Given the description of an element on the screen output the (x, y) to click on. 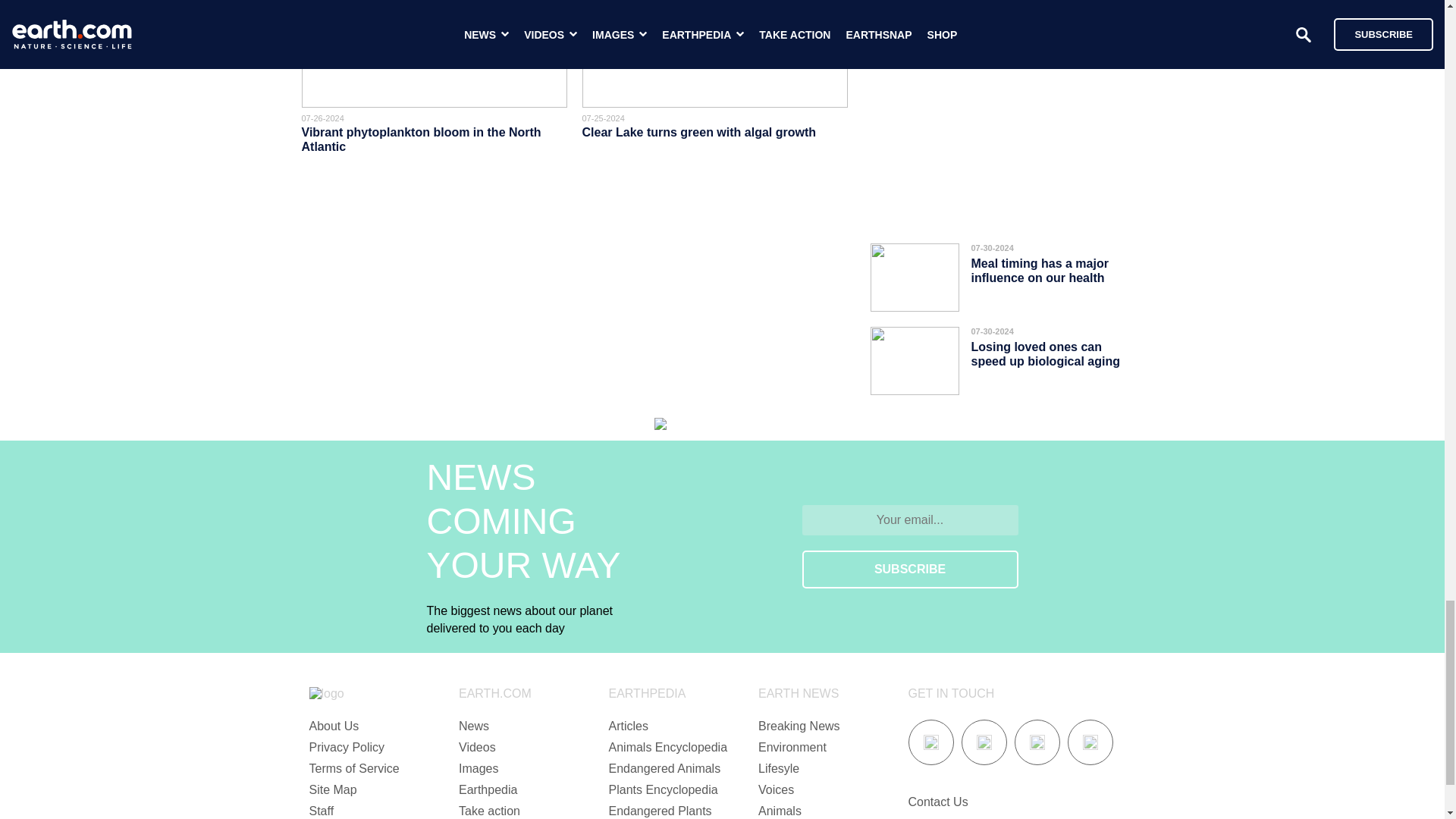
Clear Lake turns green with algal growth (699, 132)
Vibrant phytoplankton bloom in the North Atlantic (421, 139)
